Given the description of an element on the screen output the (x, y) to click on. 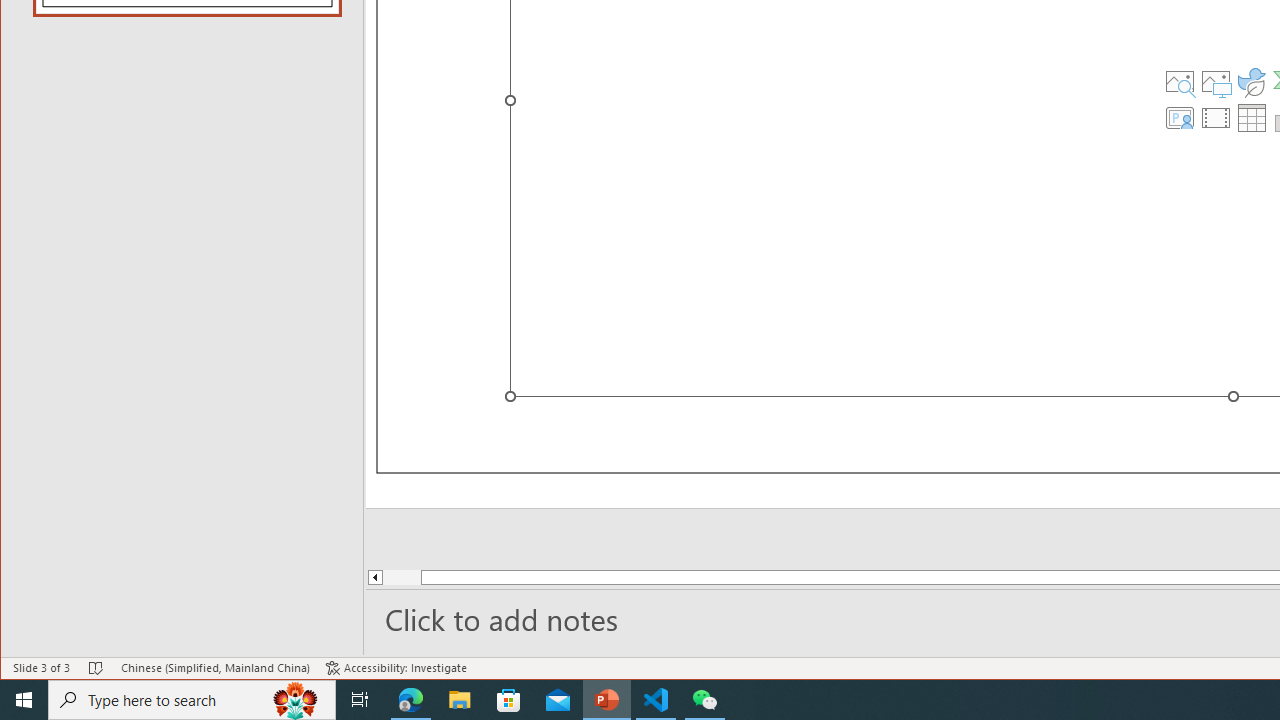
Insert an Icon (1252, 81)
PowerPoint - 1 running window (607, 699)
Type here to search (191, 699)
Task View (359, 699)
Pictures (1215, 81)
Spell Check No Errors (96, 668)
Microsoft Store (509, 699)
Insert Table (1252, 117)
Search highlights icon opens search home window (295, 699)
Visual Studio Code - 1 running window (656, 699)
Stock Images (1179, 81)
Line up (374, 577)
Microsoft Edge - 1 running window (411, 699)
File Explorer (460, 699)
